Given the description of an element on the screen output the (x, y) to click on. 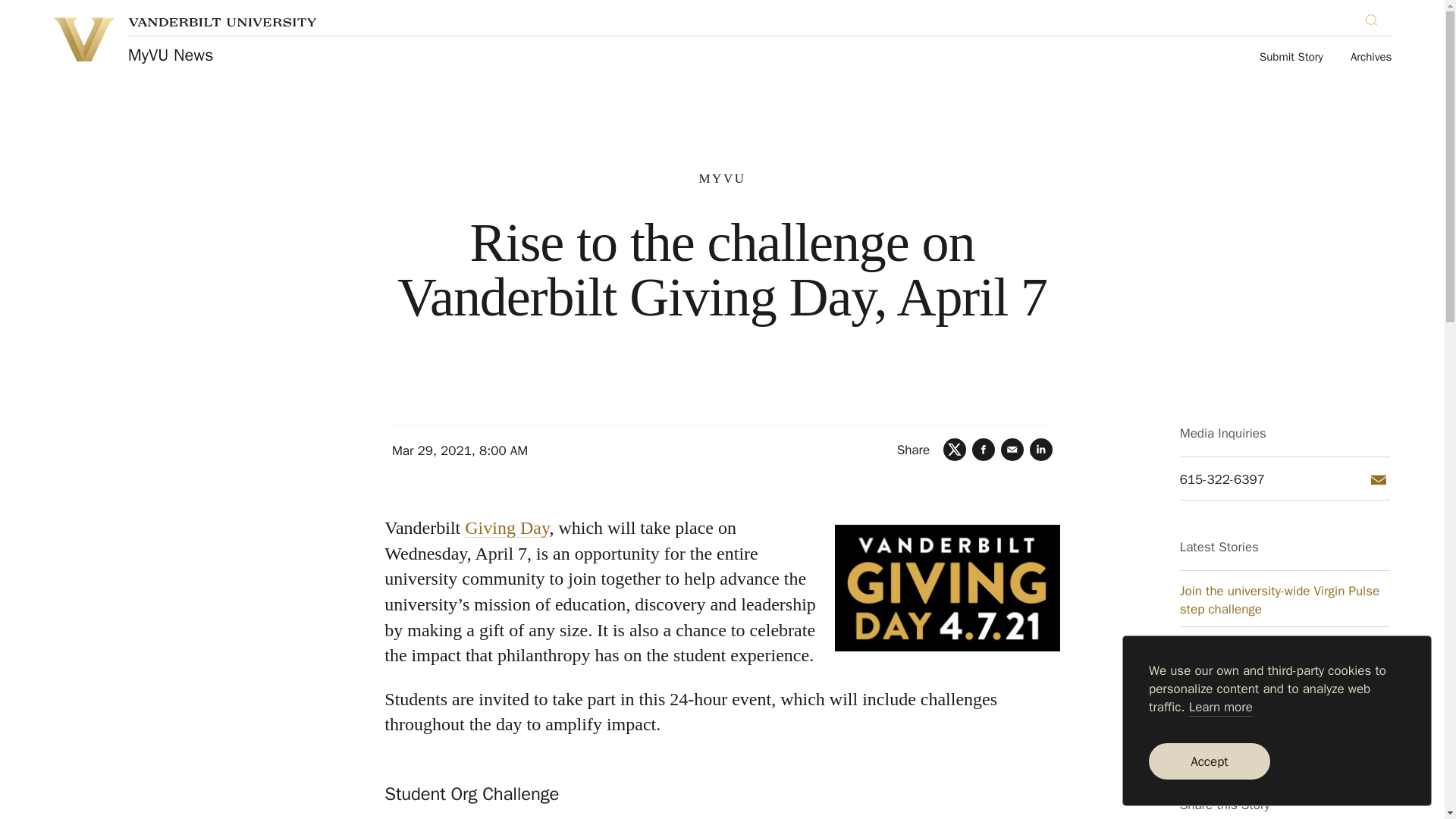
Twitter (954, 449)
Vanderbilt University (83, 39)
Submit Story (1291, 57)
Archives (1371, 57)
Accept (1208, 760)
Giving Day (506, 527)
Email (1378, 479)
Learn more (1220, 707)
Join the university-wide Virgin Pulse step challenge (1284, 600)
Facebook (983, 449)
